Given the description of an element on the screen output the (x, y) to click on. 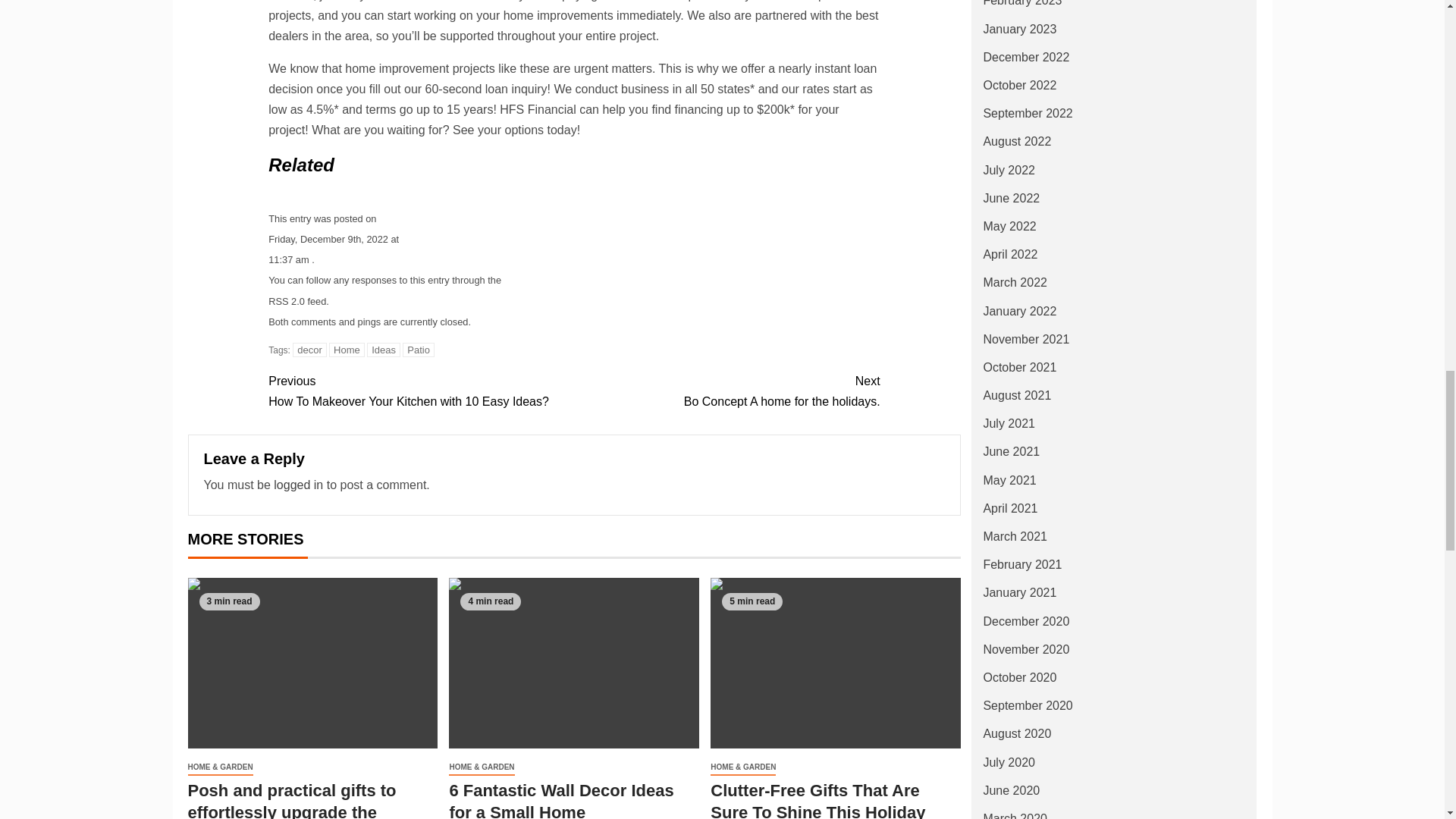
Patio (418, 350)
Ideas (383, 350)
decor (420, 391)
6 Fantastic Wall Decor Ideas for a Small Home (309, 350)
Home (573, 663)
